Given the description of an element on the screen output the (x, y) to click on. 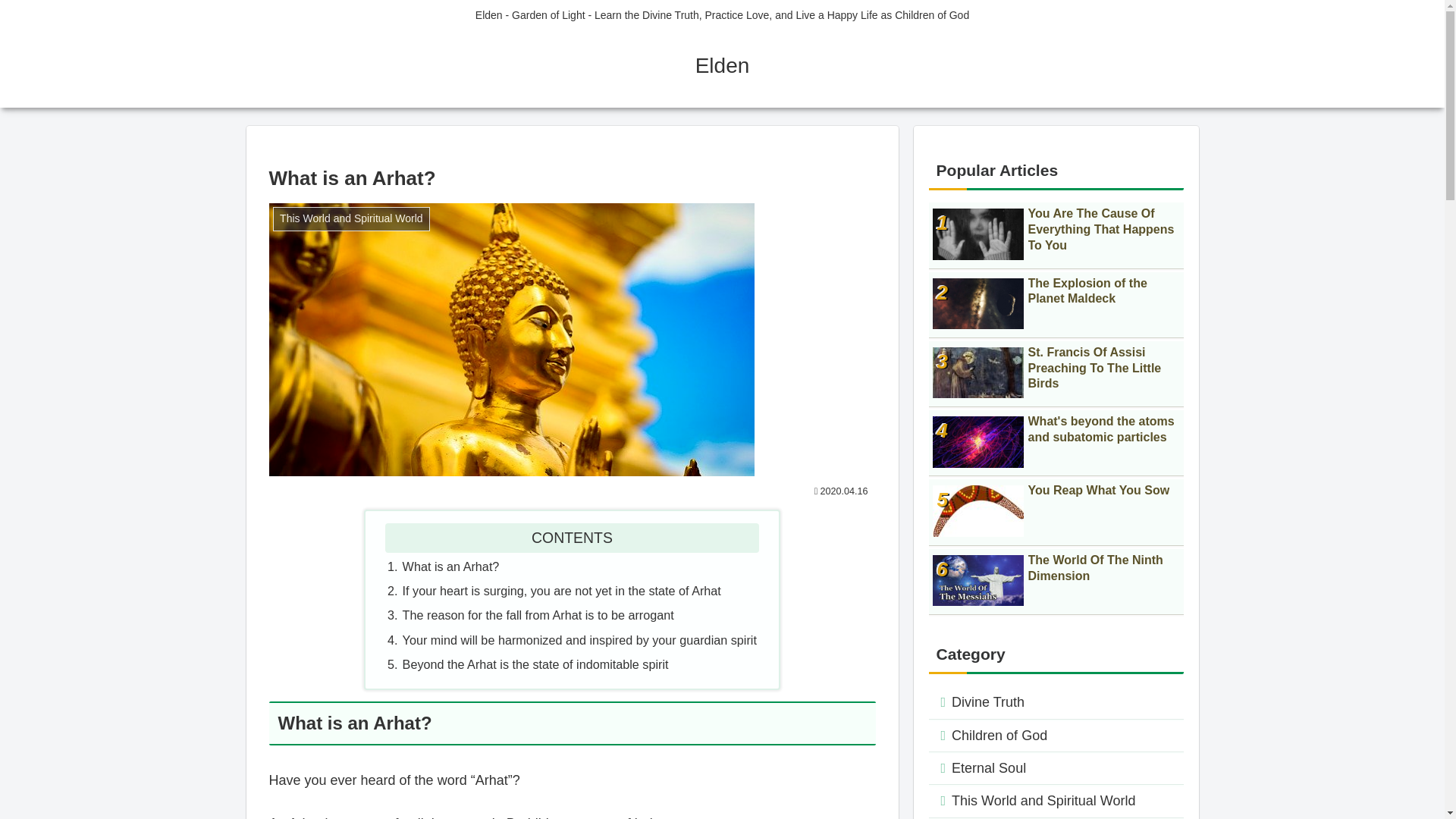
This World and Spiritual World (1055, 800)
The reason for the fall from Arhat is to be arrogant (538, 614)
You Are The Cause Of Everything That Happens To You (1055, 235)
What is an Arhat? (451, 566)
Beyond the Arhat is the state of indomitable spirit (535, 663)
You Reap What You Sow (1055, 512)
Eternal Soul (1055, 768)
St. Francis Of Assisi Preaching To The Little Birds (1055, 374)
Divine Truth (1055, 702)
The Explosion of the Planet Maldeck (1055, 304)
The World Of The Ninth Dimension (1055, 581)
What's beyond the atoms and subatomic particles (1055, 442)
Children of God (1055, 735)
